Given the description of an element on the screen output the (x, y) to click on. 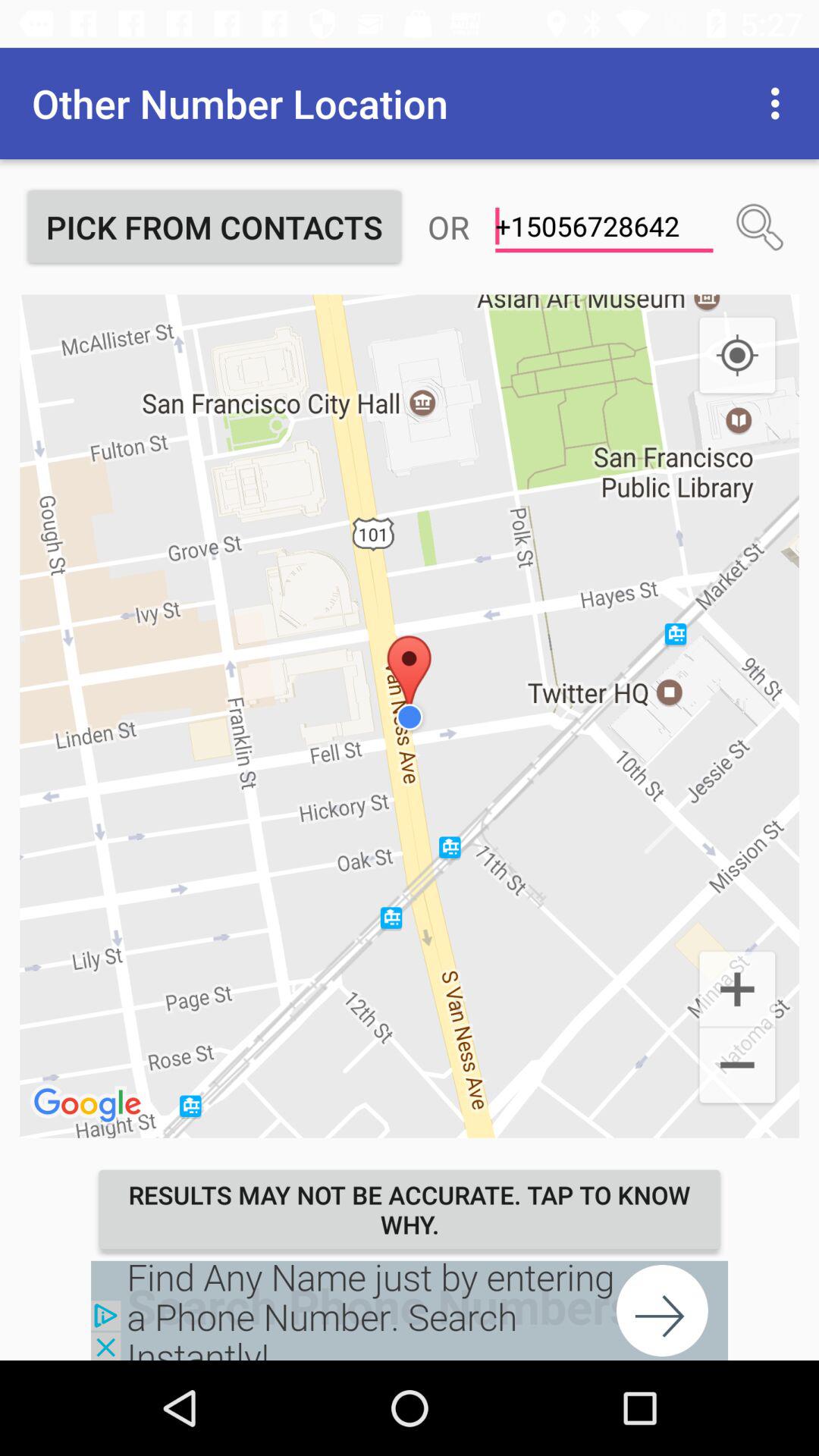
search contact (759, 226)
